Given the description of an element on the screen output the (x, y) to click on. 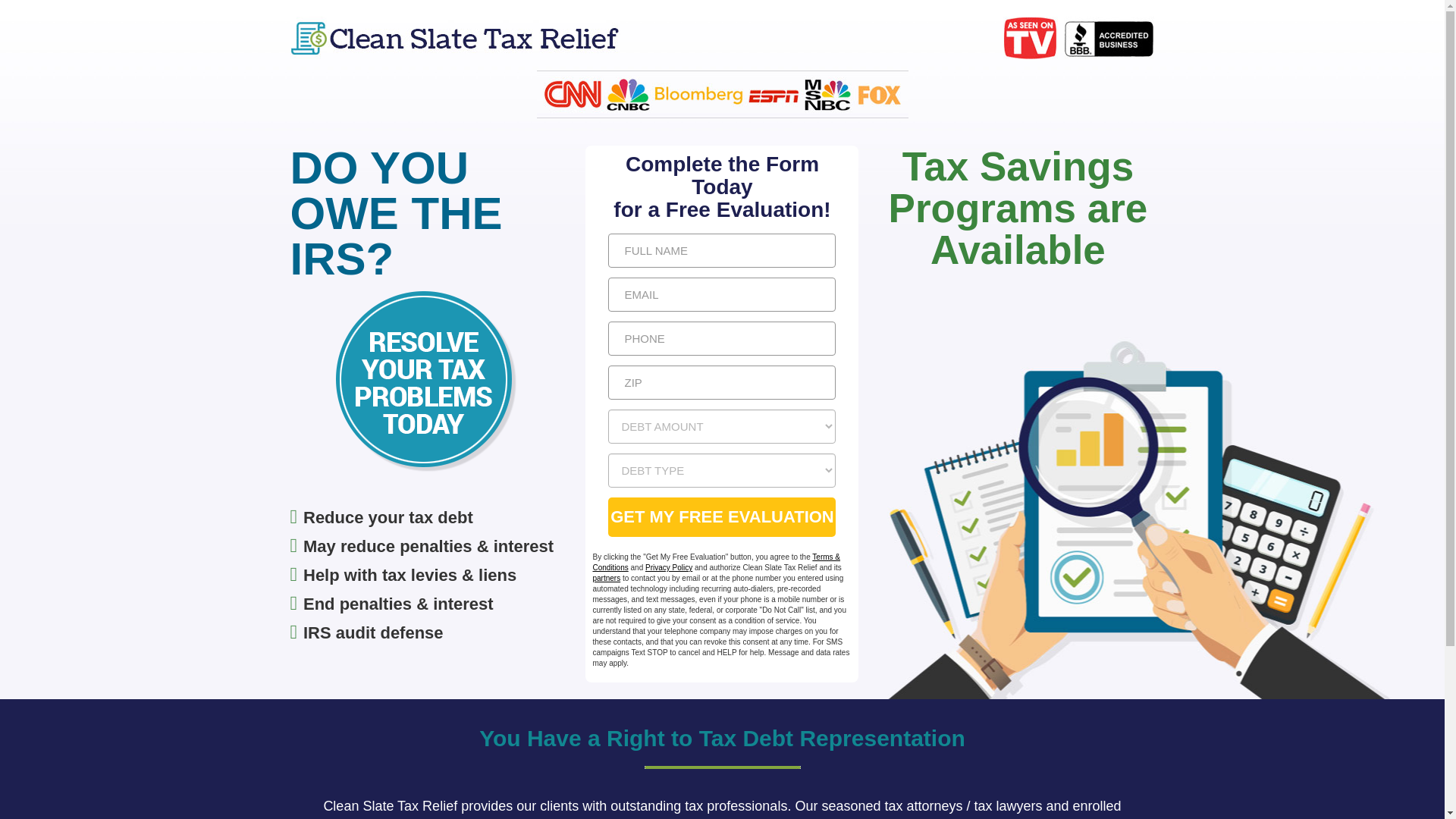
Privacy Policy (669, 567)
Get MY FREE EVALUATION (721, 517)
GET MY FREE EVALUATION (721, 517)
partners (606, 578)
